Given the description of an element on the screen output the (x, y) to click on. 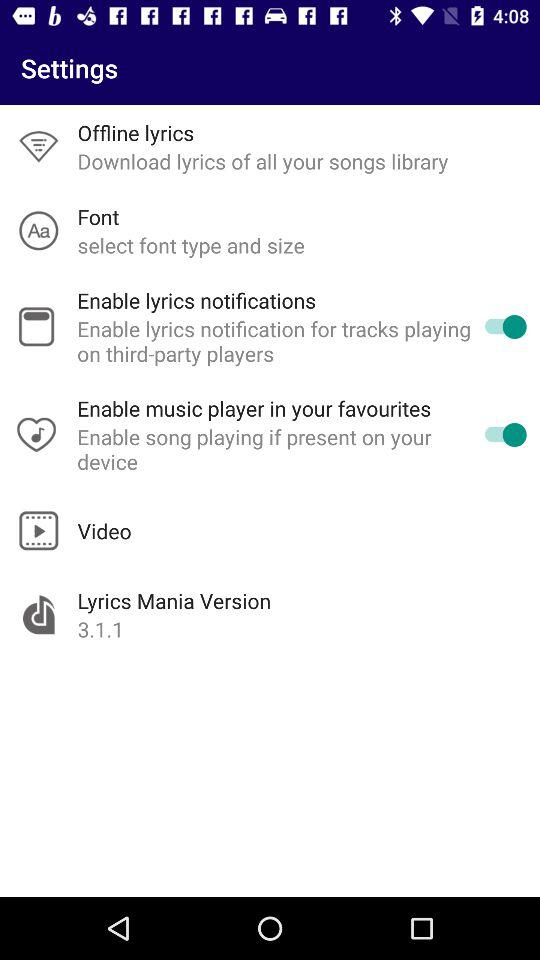
click enable music player app (254, 408)
